Given the description of an element on the screen output the (x, y) to click on. 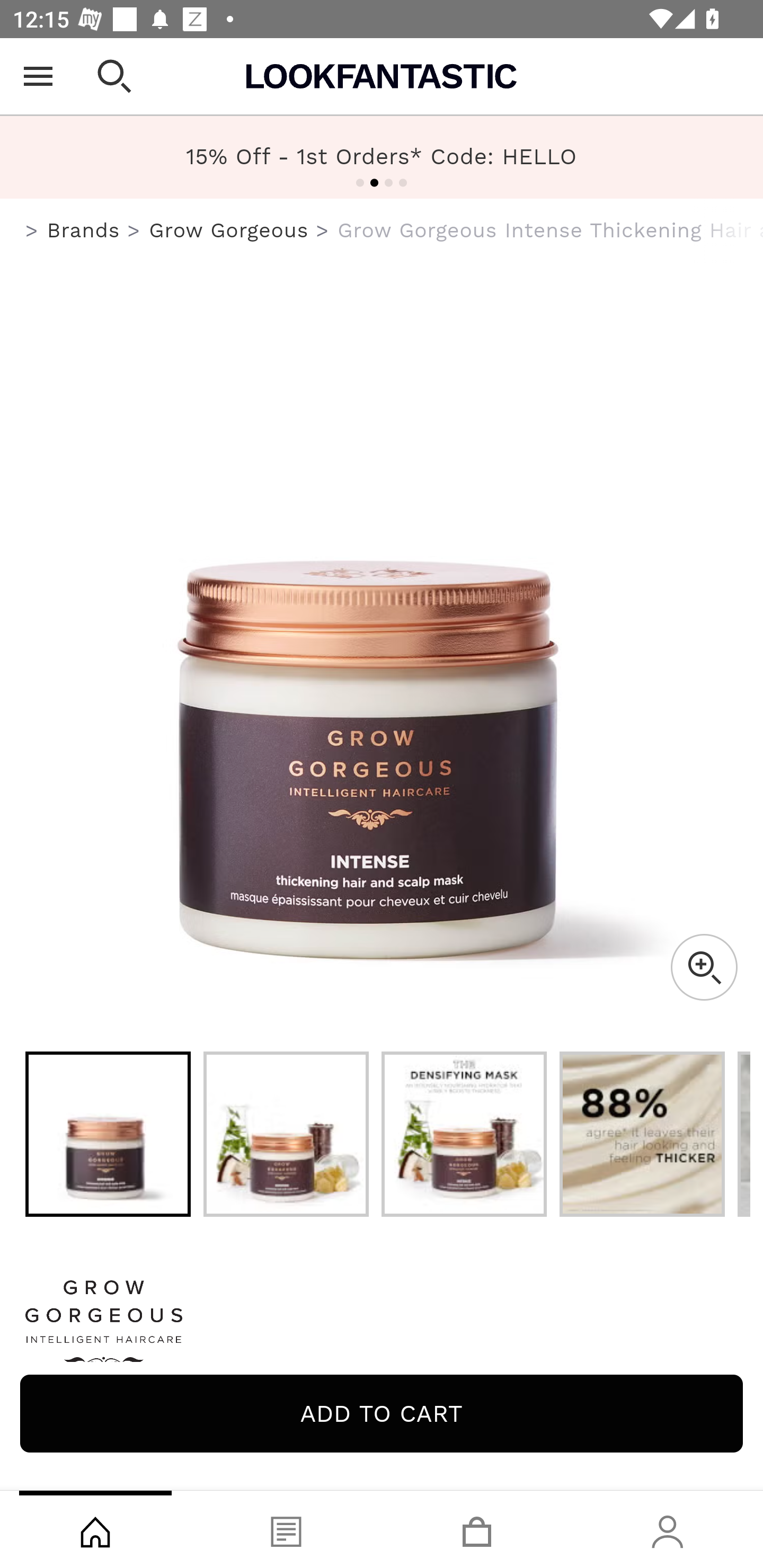
Open Menu (38, 75)
Open search (114, 75)
Lookfantastic USA (381, 75)
us.lookfantastic (32, 230)
Brands (82, 230)
Grow Gorgeous (228, 230)
Zoom (703, 966)
Grow Gorgeous (381, 1327)
Add to cart (381, 1413)
Shop, tab, 1 of 4 (95, 1529)
Blog, tab, 2 of 4 (285, 1529)
Basket, tab, 3 of 4 (476, 1529)
Account, tab, 4 of 4 (667, 1529)
